Given the description of an element on the screen output the (x, y) to click on. 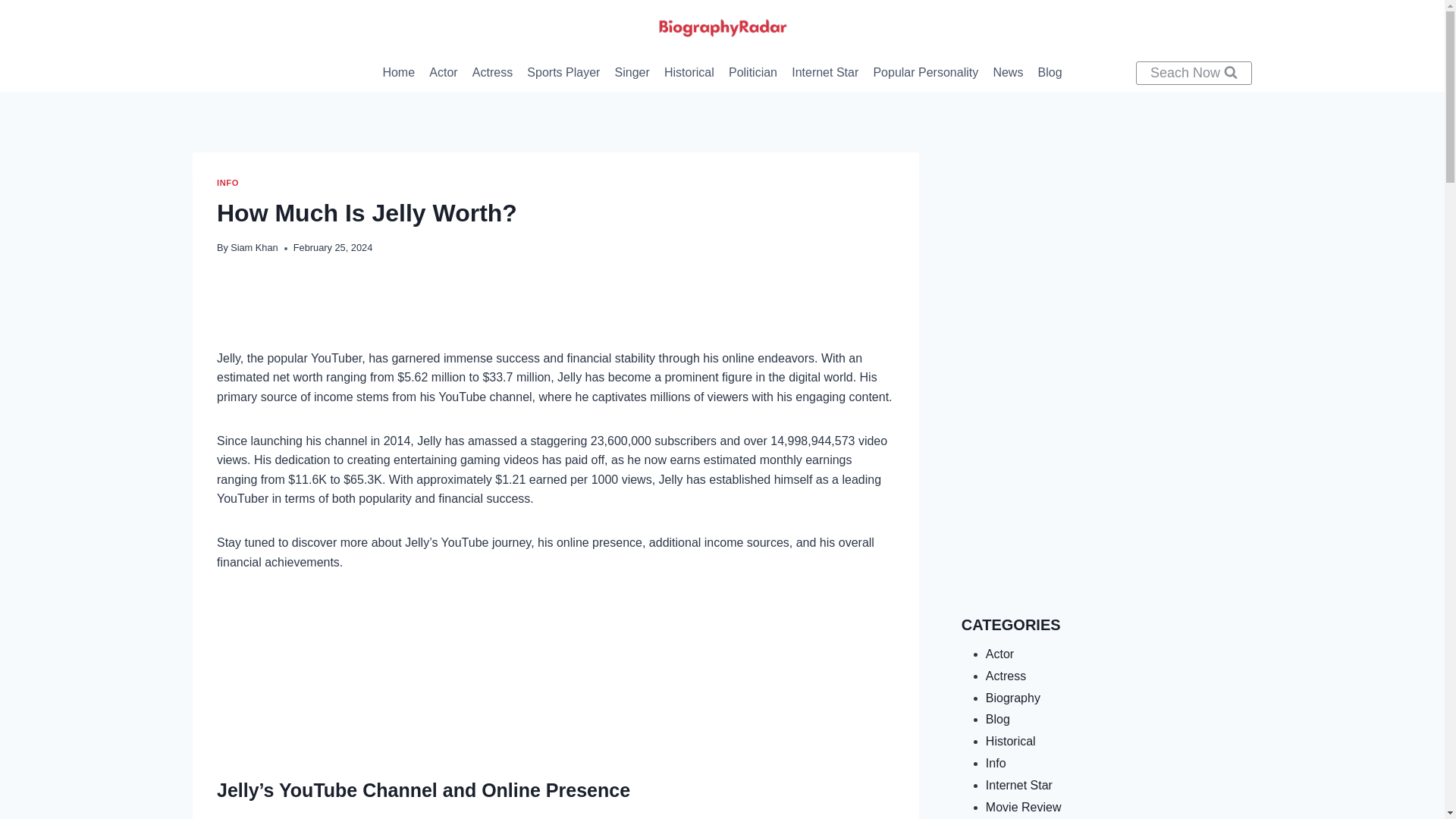
Historical (688, 72)
Advertisement (555, 671)
Internet Star (825, 72)
Home (398, 72)
Advertisement (1106, 489)
Singer (631, 72)
News (1007, 72)
Politician (752, 72)
Sports Player (563, 72)
Blog (1049, 72)
